Given the description of an element on the screen output the (x, y) to click on. 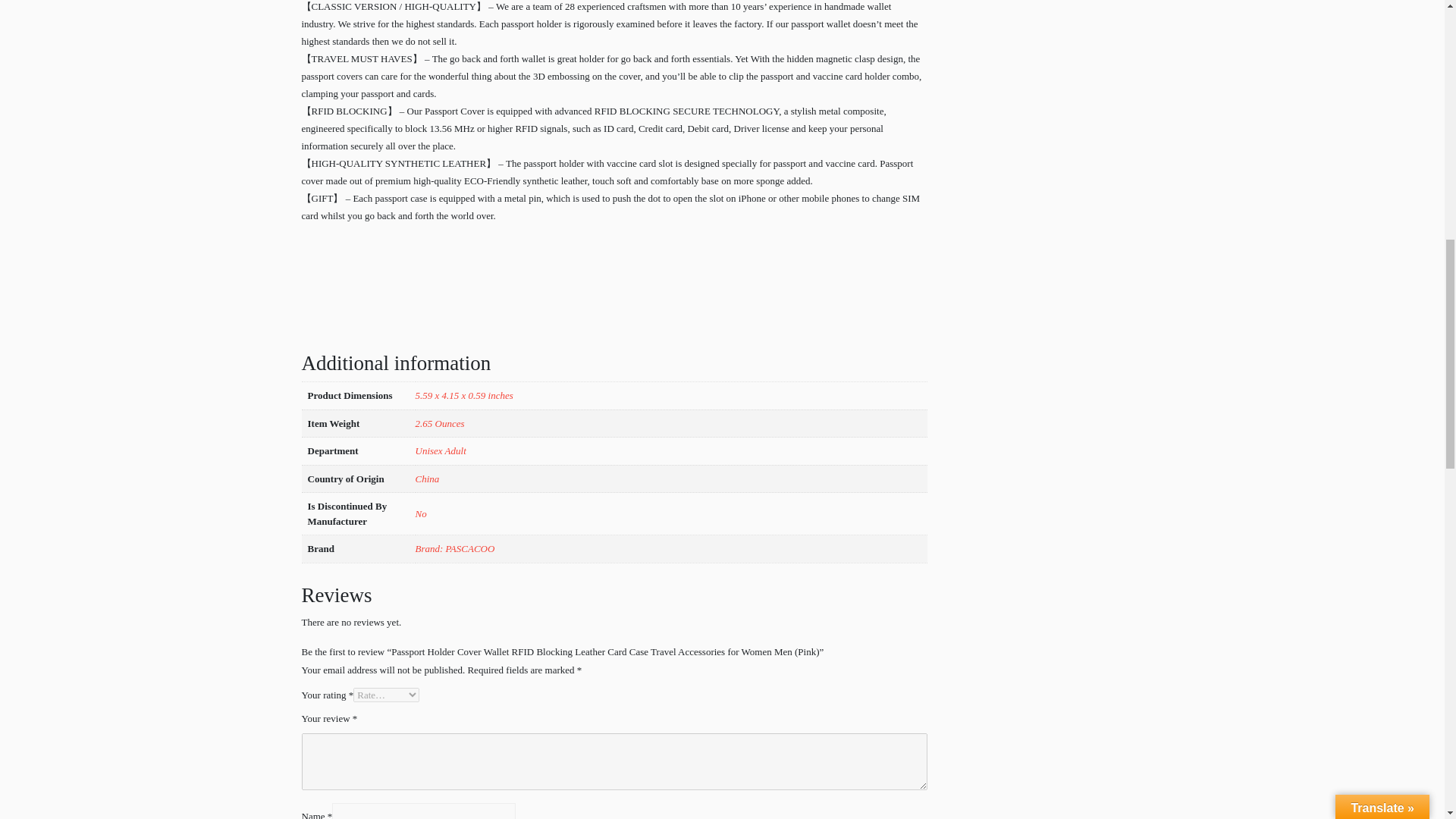
No (420, 513)
Unisex Adult (439, 450)
Brand: PASCACOO (454, 548)
5.59 x 4.15 x 0.59 inches (463, 395)
2.65 Ounces (439, 423)
China (426, 478)
